Given the description of an element on the screen output the (x, y) to click on. 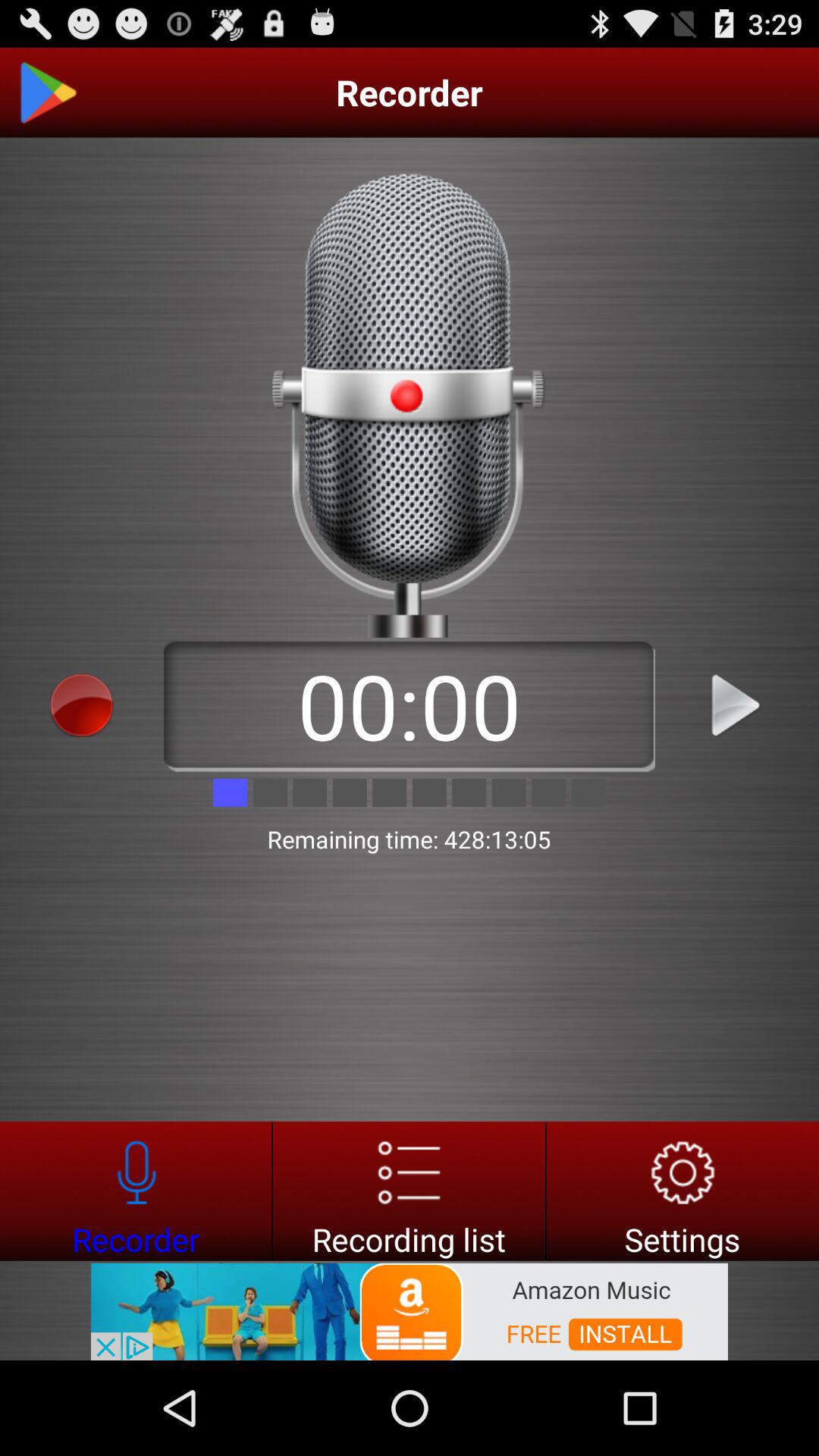
click to record options (81, 705)
